Given the description of an element on the screen output the (x, y) to click on. 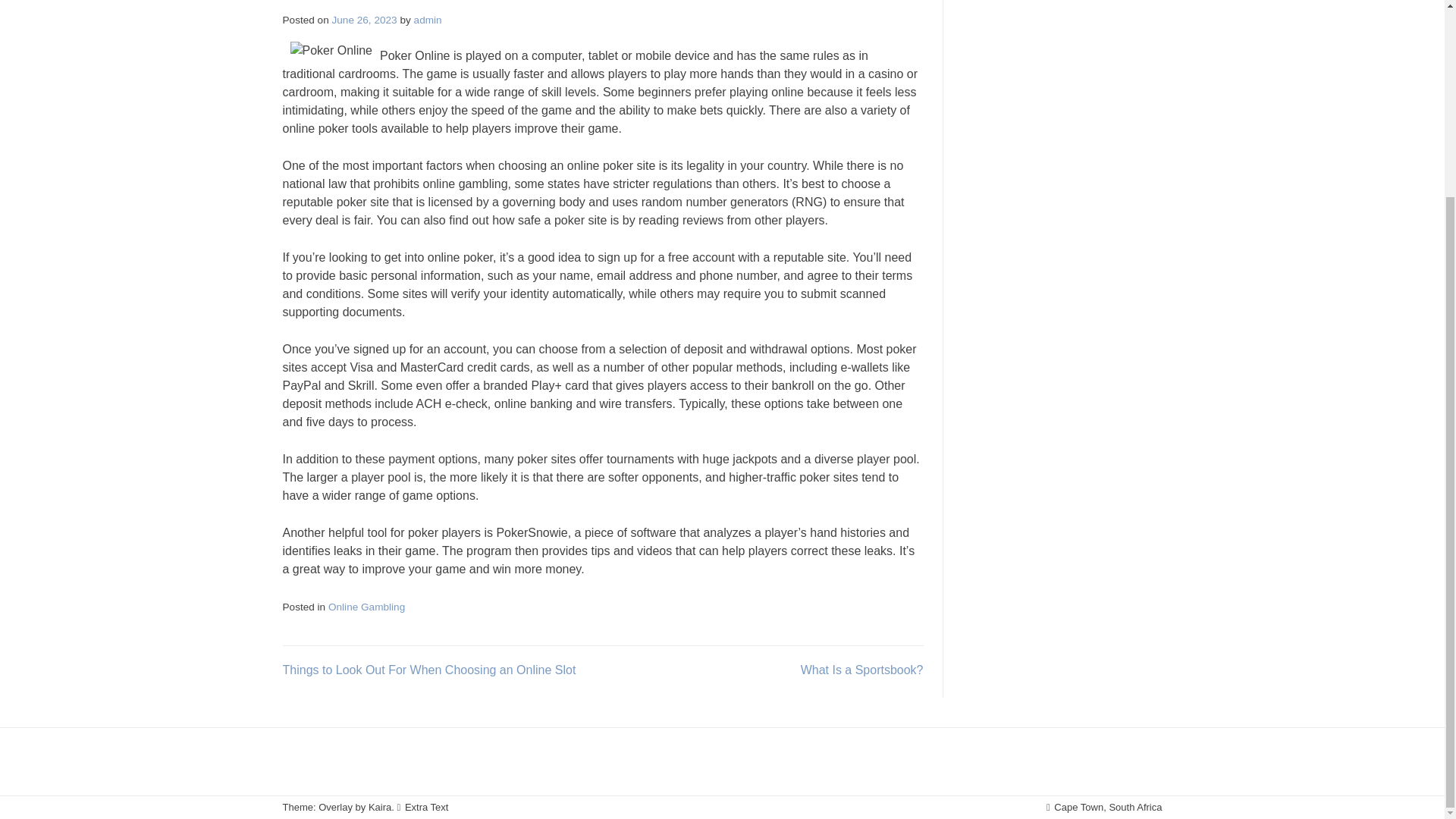
Kaira (379, 807)
What Is a Sportsbook? (861, 669)
Online Gambling (366, 606)
Things to Look Out For When Choosing an Online Slot (428, 669)
June 26, 2023 (364, 19)
admin (427, 19)
